Given the description of an element on the screen output the (x, y) to click on. 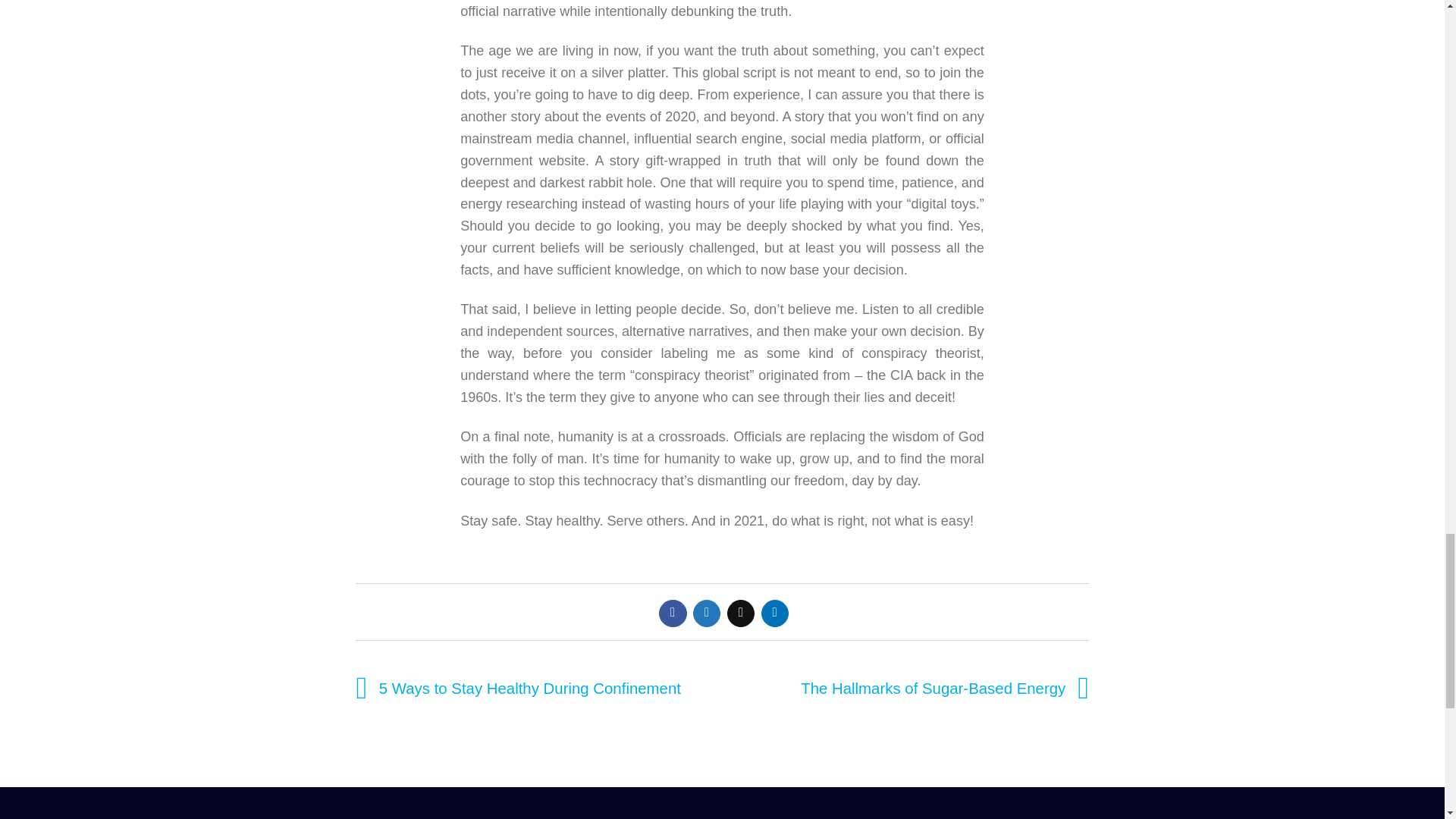
Share on Facebook (672, 613)
The Hallmarks of Sugar-Based Energy (948, 688)
Email to a Friend (740, 613)
5 Ways to Stay Healthy During Confinement (514, 688)
Share on LinkedIn (775, 613)
Share on Twitter (706, 613)
